Given the description of an element on the screen output the (x, y) to click on. 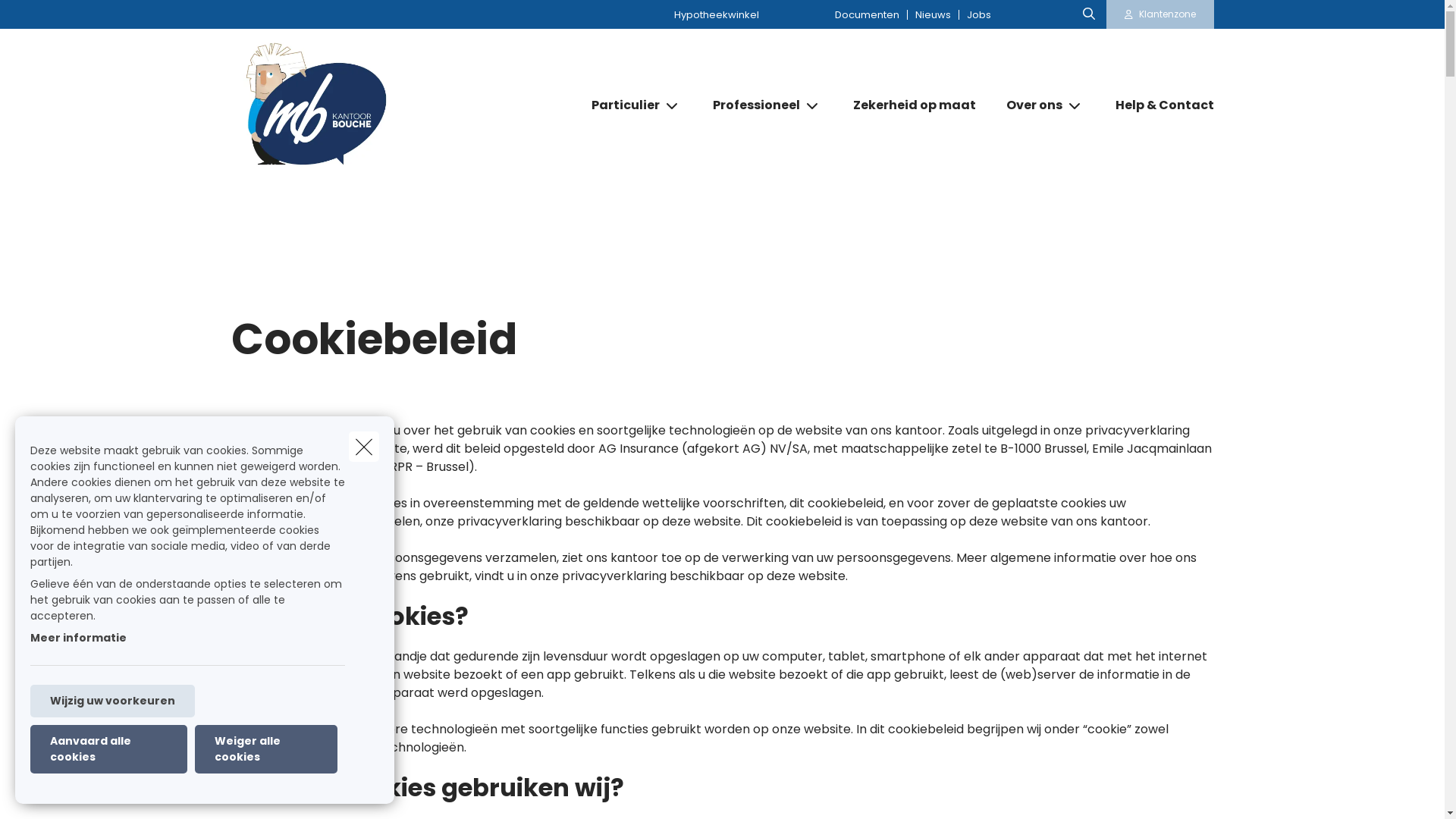
Documenten Element type: text (866, 13)
Hypotheekwinkel Element type: text (716, 13)
Particulier Element type: text (619, 104)
Zoeken Element type: text (43, 18)
Klantenzone Element type: text (1160, 14)
Professioneel Element type: text (750, 104)
Zekerheid op maat Element type: text (913, 104)
Help & Contact Element type: text (1156, 104)
Aanvaard alle cookies Element type: text (108, 748)
Jobs Element type: text (978, 13)
1. Wat zijn cookies? Element type: text (348, 616)
Wijzig uw voorkeuren Element type: text (112, 700)
Nieuws Element type: text (932, 13)
Meer informatie Element type: text (78, 637)
Over ons Element type: text (1027, 104)
Weiger alle cookies Element type: text (265, 748)
